Given the description of an element on the screen output the (x, y) to click on. 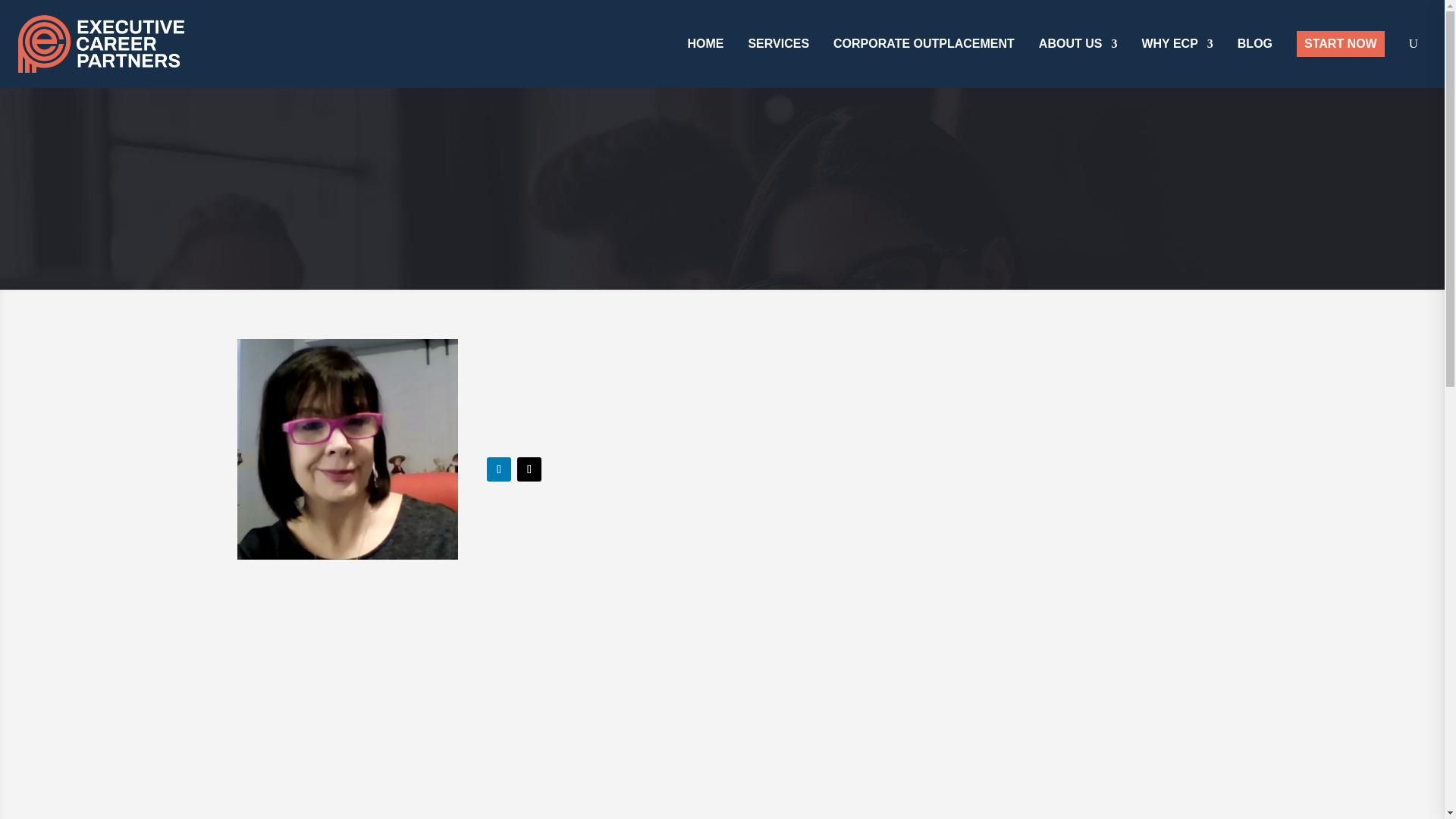
WHY ECP (1176, 43)
mary-mann-295 (346, 449)
ABOUT US (1078, 43)
CORPORATE OUTPLACEMENT (923, 43)
SERVICES (778, 43)
Follow on Mail (528, 469)
Follow on LinkedIn (498, 469)
START NOW (1340, 43)
